Given the description of an element on the screen output the (x, y) to click on. 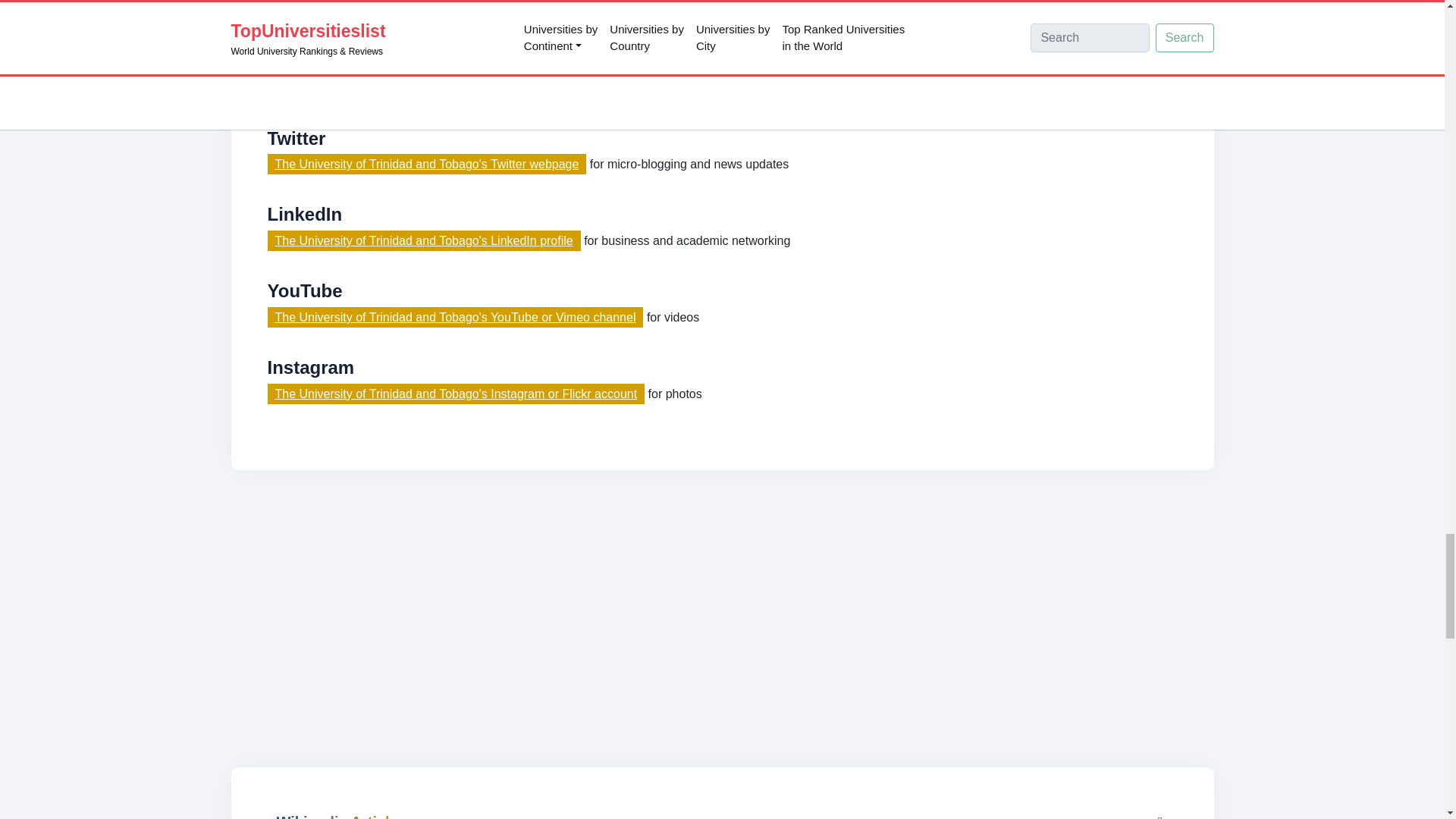
The University of Trinidad and Tobago's LinkedIn profile (422, 240)
The University of Trinidad and Tobago's Twitter webpage (426, 163)
The University of Trinidad and Tobago's Facebook page (423, 87)
